Given the description of an element on the screen output the (x, y) to click on. 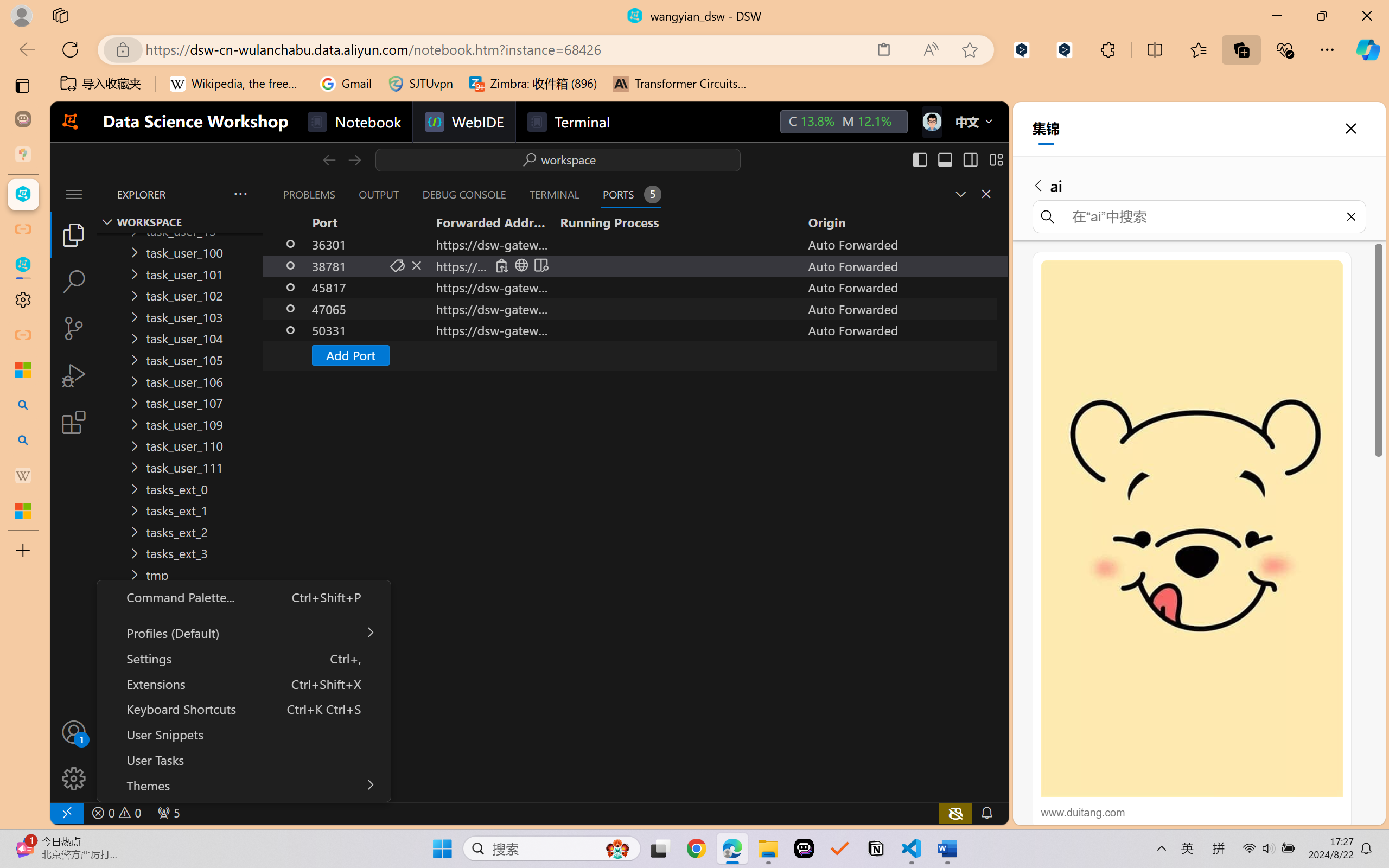
Title actions (957, 159)
Class: next-menu next-hoz widgets--iconMenu--BFkiHRM (930, 121)
Extensions (Ctrl+Shift+X) (73, 422)
Copy Local Address (Ctrl+C) (501, 265)
Toggle Primary Side Bar (Ctrl+B) (919, 159)
wangyian_webcrawler - DSW (22, 264)
Settings Ctrl+, (243, 657)
Toggle Panel (Ctrl+J) (944, 159)
Wikipedia, the free encyclopedia (236, 83)
icon (930, 119)
